Given the description of an element on the screen output the (x, y) to click on. 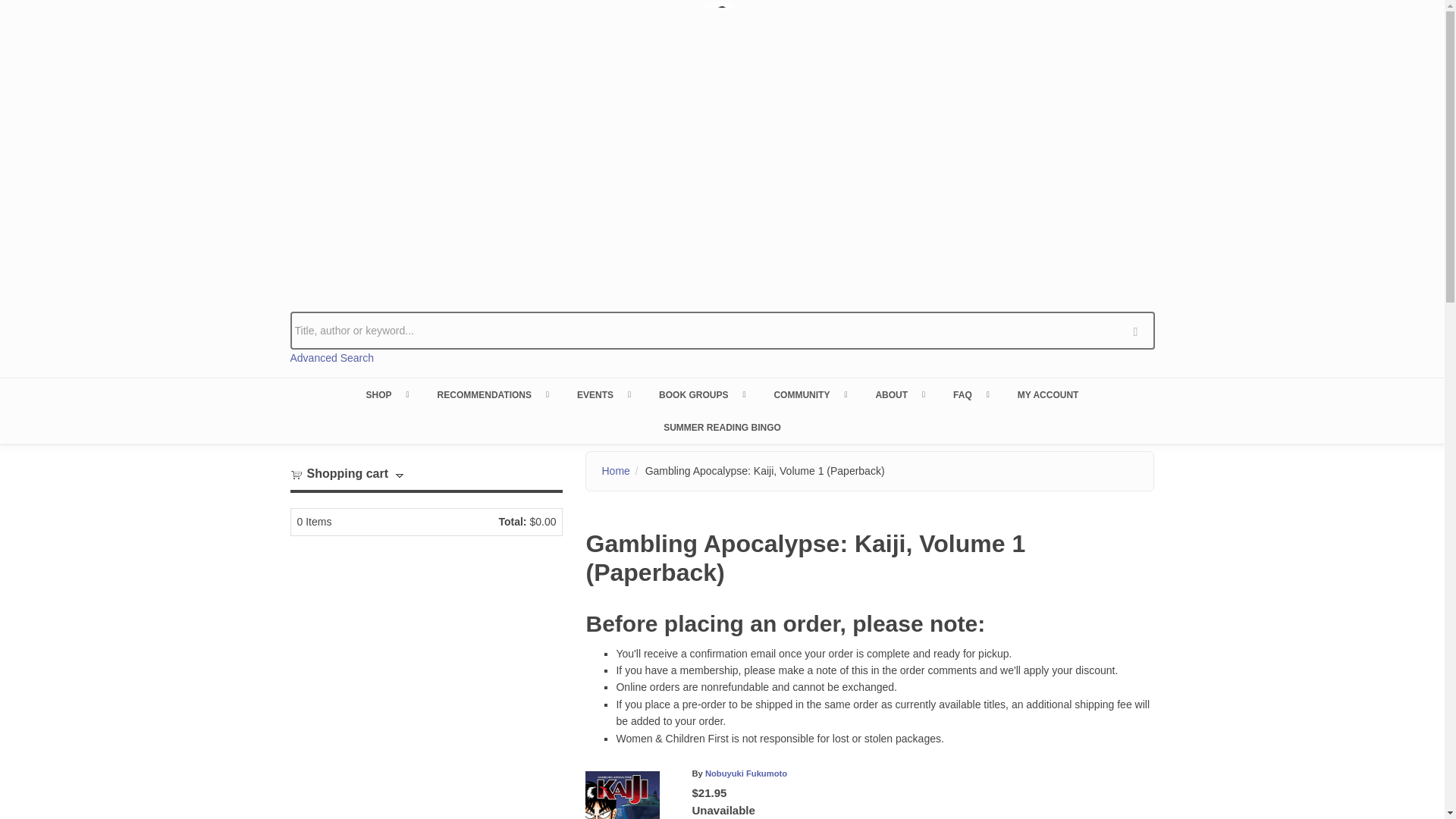
SHOP (386, 394)
EVENTS (602, 394)
Title, author or keyword... (721, 330)
Instructions for summer bingo! (721, 427)
RECOMMENDATIONS (492, 394)
Home (722, 152)
Advanced Search (331, 357)
View your shopping cart. (295, 473)
About the Owners and the History of Women and Children First (898, 394)
